Given the description of an element on the screen output the (x, y) to click on. 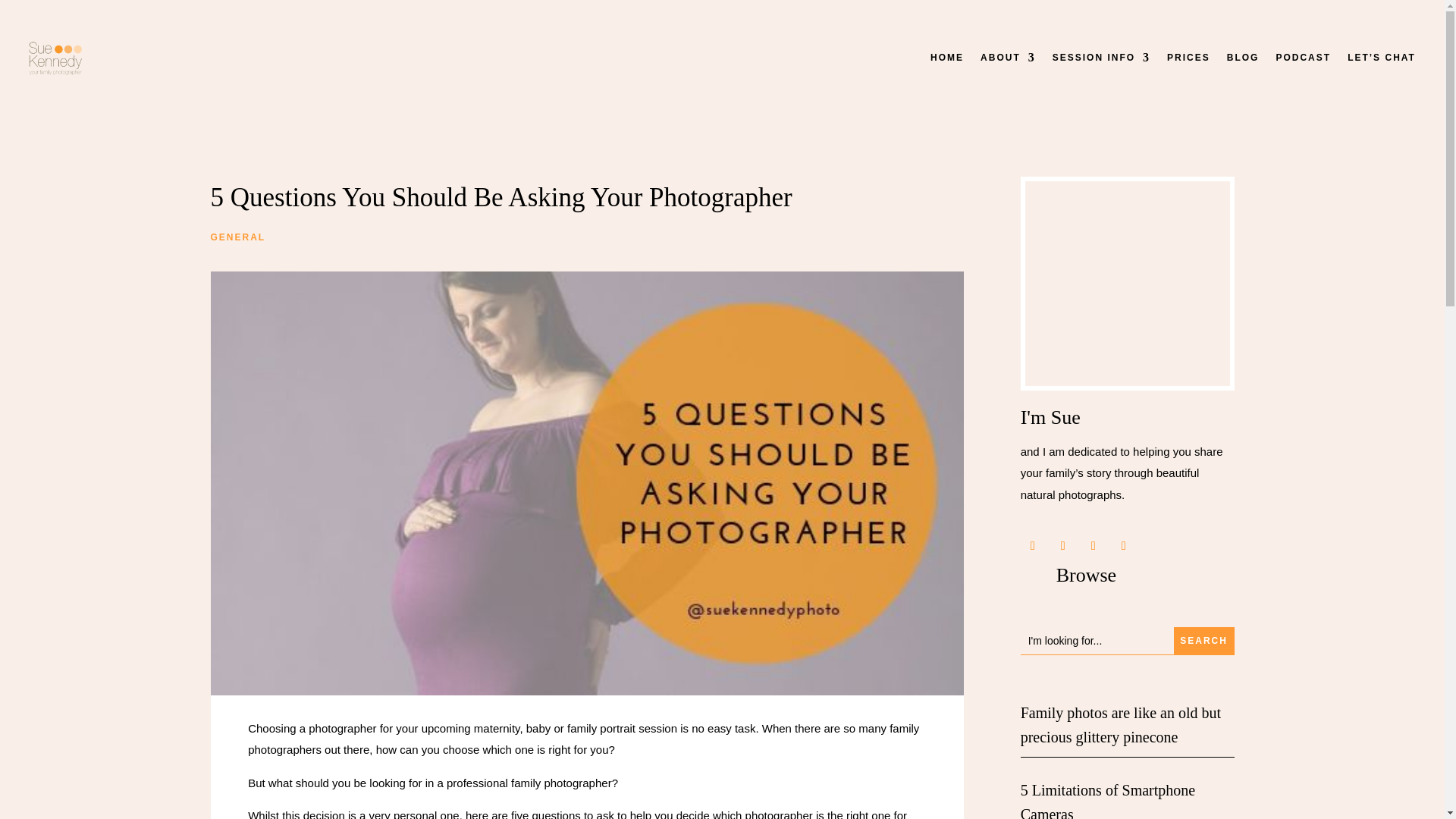
SESSION INFO (1101, 57)
ABOUT (1007, 57)
Search (1203, 640)
PODCAST (1302, 57)
GENERAL (238, 236)
Family photos are like an old but precious glittery pinecone (1120, 724)
Follow on Instagram (1093, 545)
Follow on TikTok (1123, 545)
Follow on LinkedIn (1063, 545)
